Given the description of an element on the screen output the (x, y) to click on. 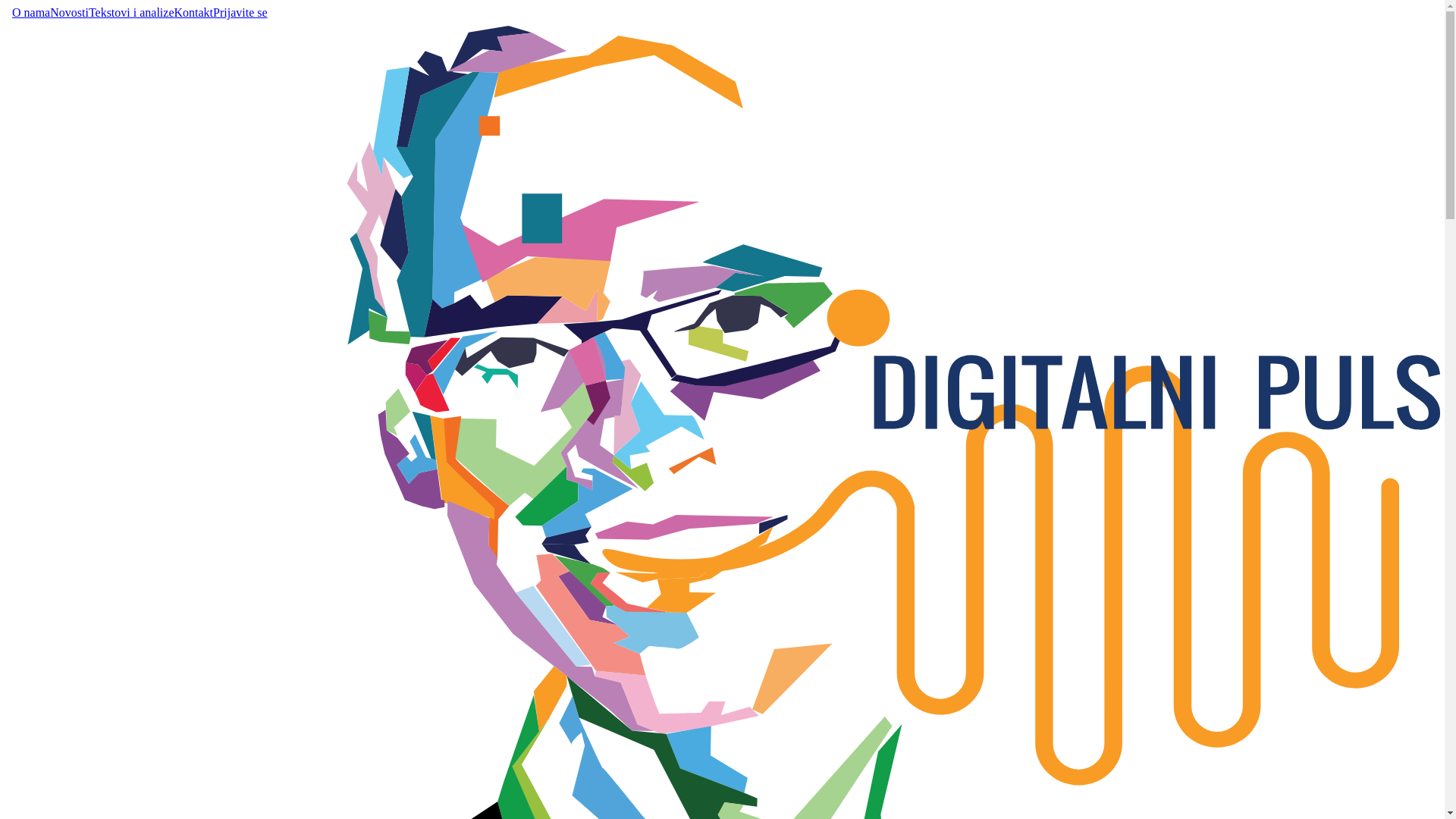
Prijavite se Element type: text (240, 12)
Kontakt Element type: text (193, 12)
Tekstovi i analize Element type: text (131, 12)
O nama Element type: text (31, 12)
Novosti Element type: text (69, 12)
